Given the description of an element on the screen output the (x, y) to click on. 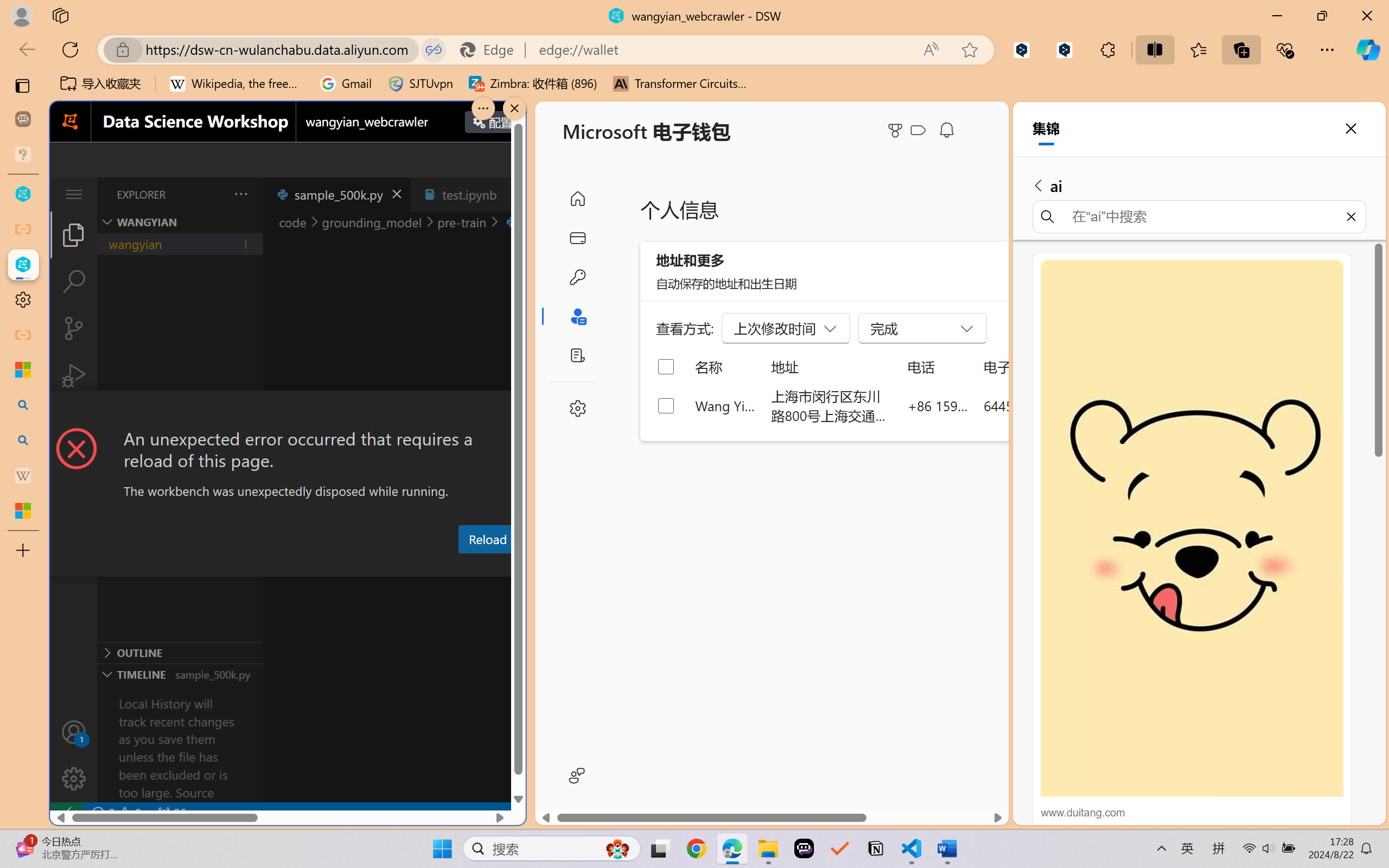
sample_500k.py (336, 194)
Problems (Ctrl+Shift+M) (308, 565)
